Given the description of an element on the screen output the (x, y) to click on. 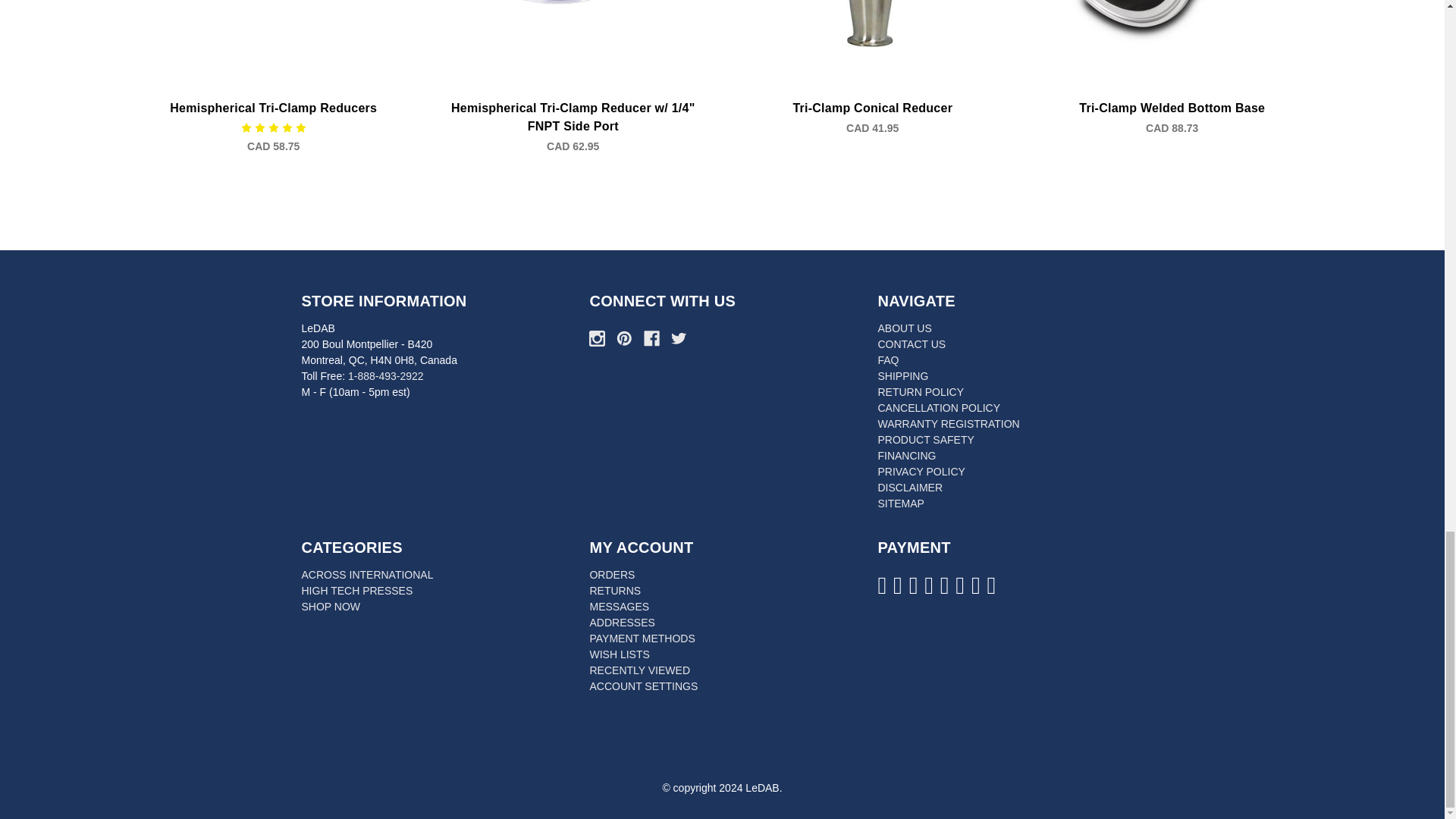
Tri-Clamp Conical Reducer (872, 24)
Tri-Clamp Welded Bottom Base (1172, 22)
